Given the description of an element on the screen output the (x, y) to click on. 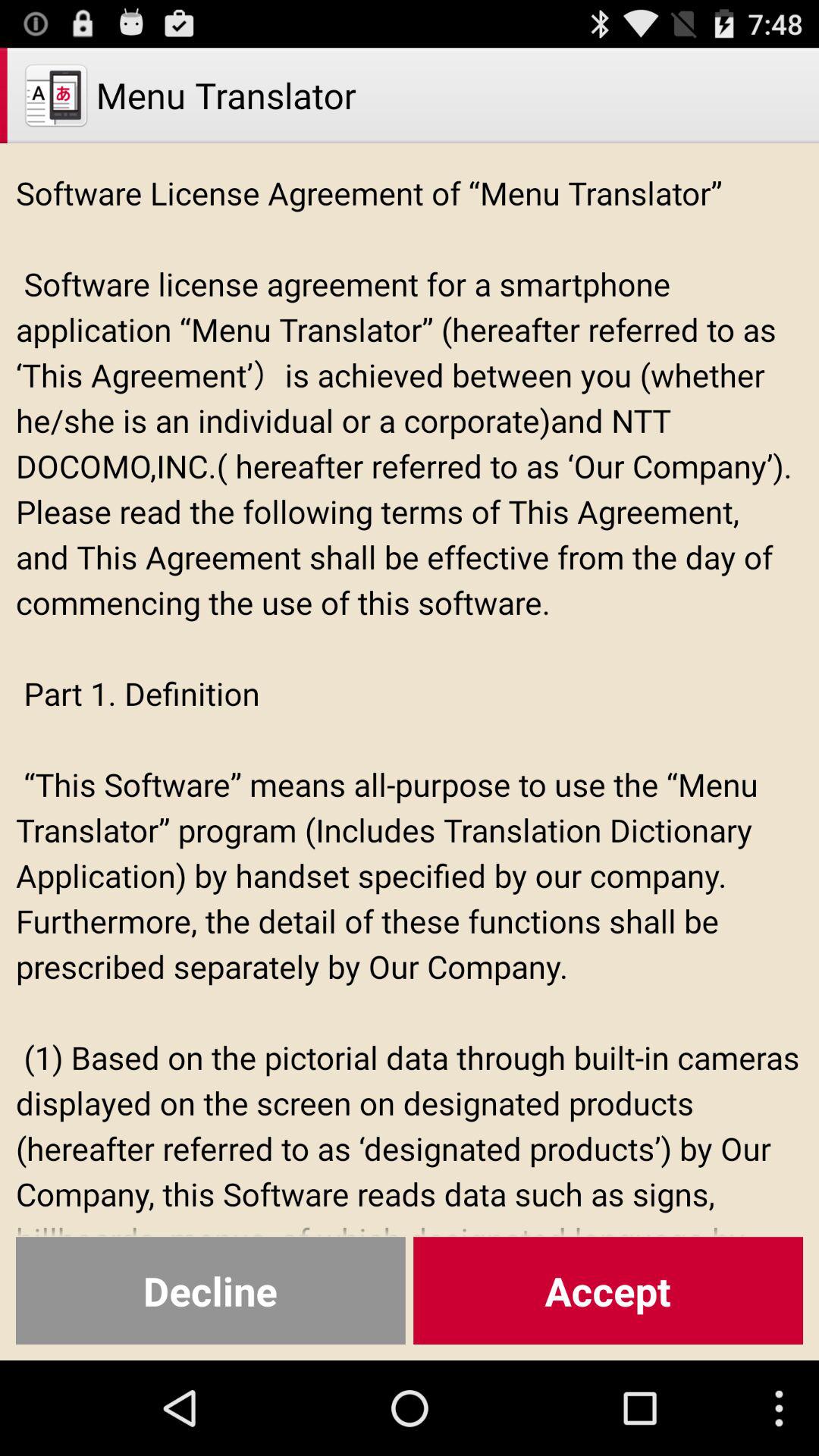
select the item to the left of the accept icon (210, 1290)
